Given the description of an element on the screen output the (x, y) to click on. 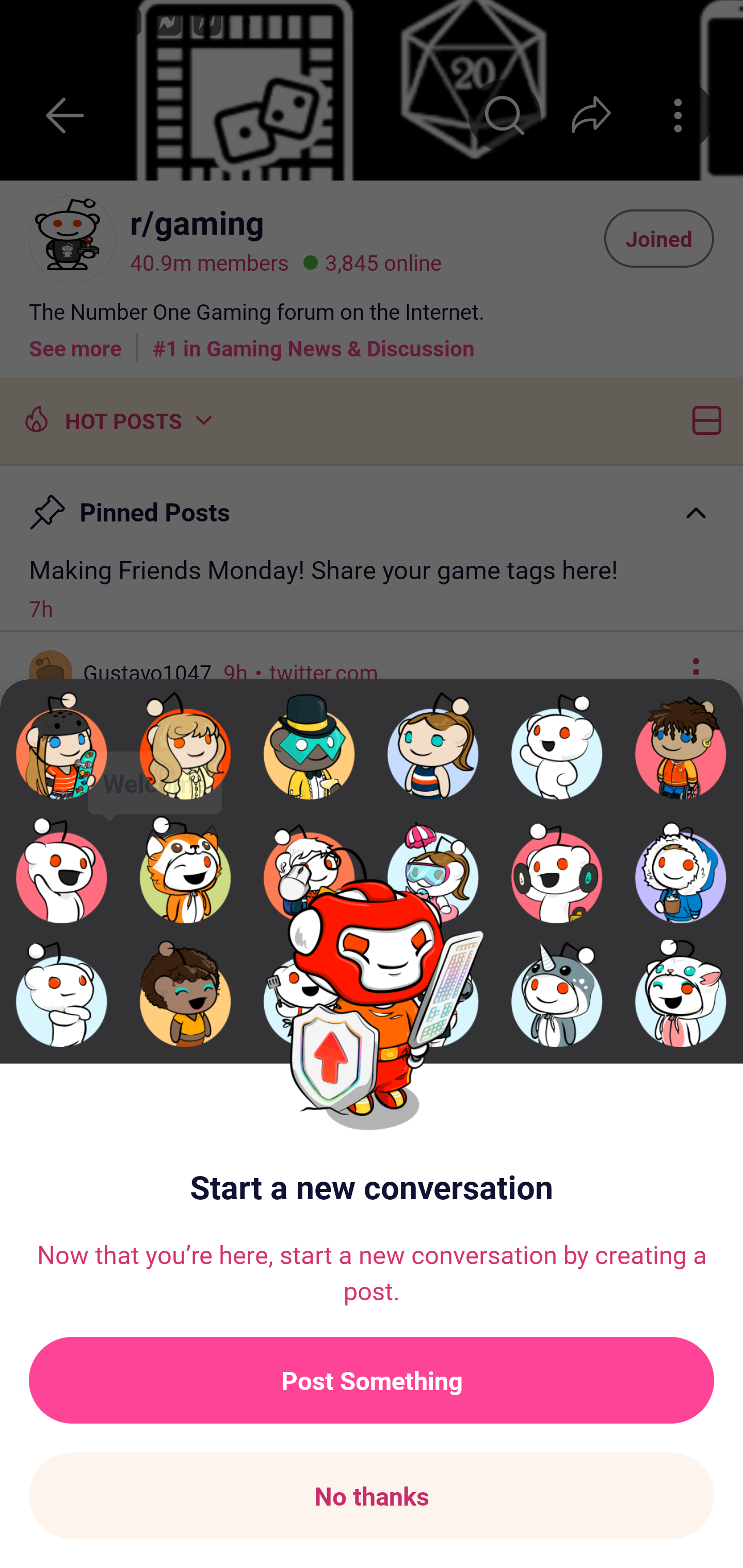
Post Something (371, 1380)
No thanks (371, 1495)
